Given the description of an element on the screen output the (x, y) to click on. 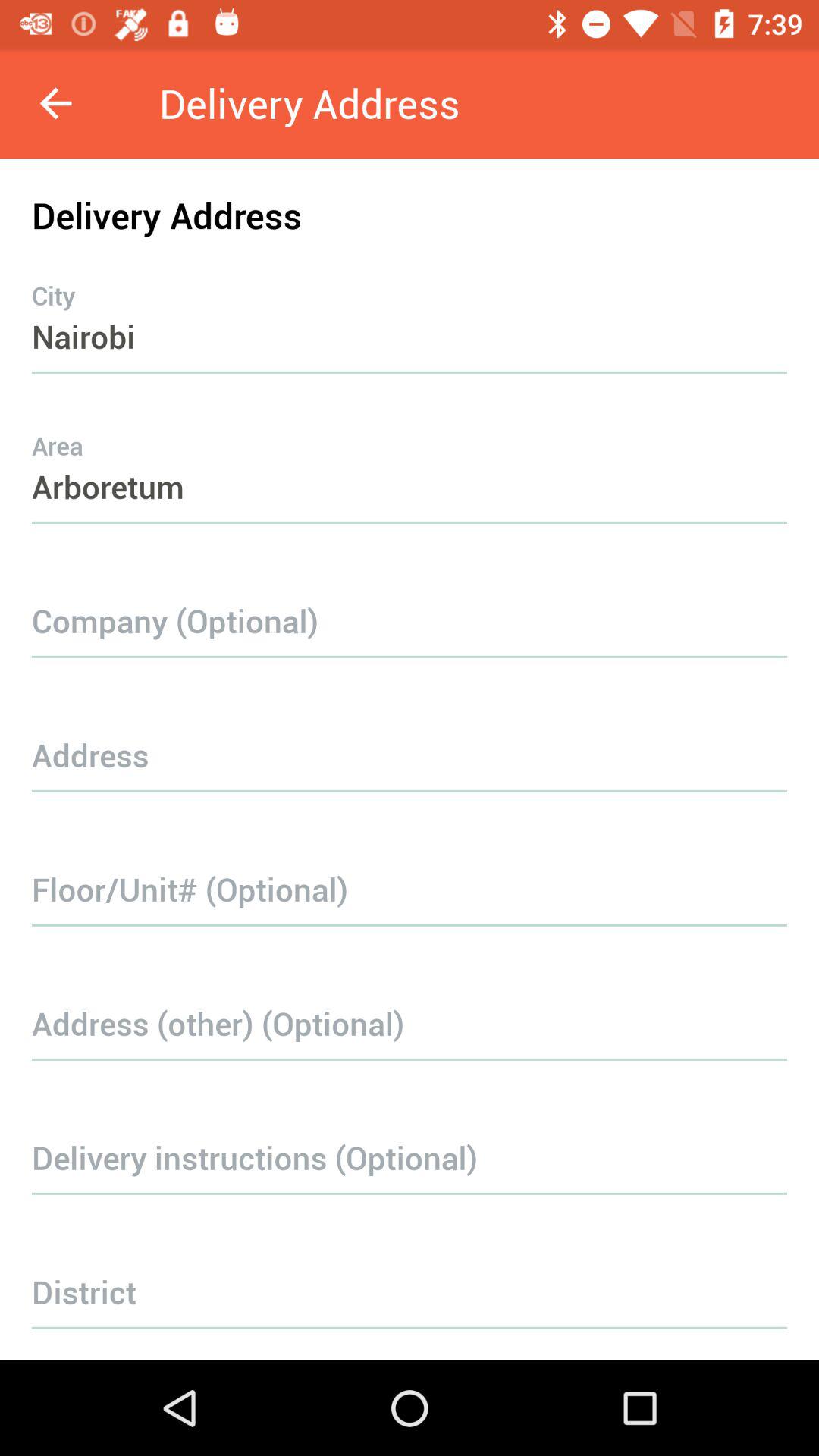
launch nairobi item (409, 306)
